Given the description of an element on the screen output the (x, y) to click on. 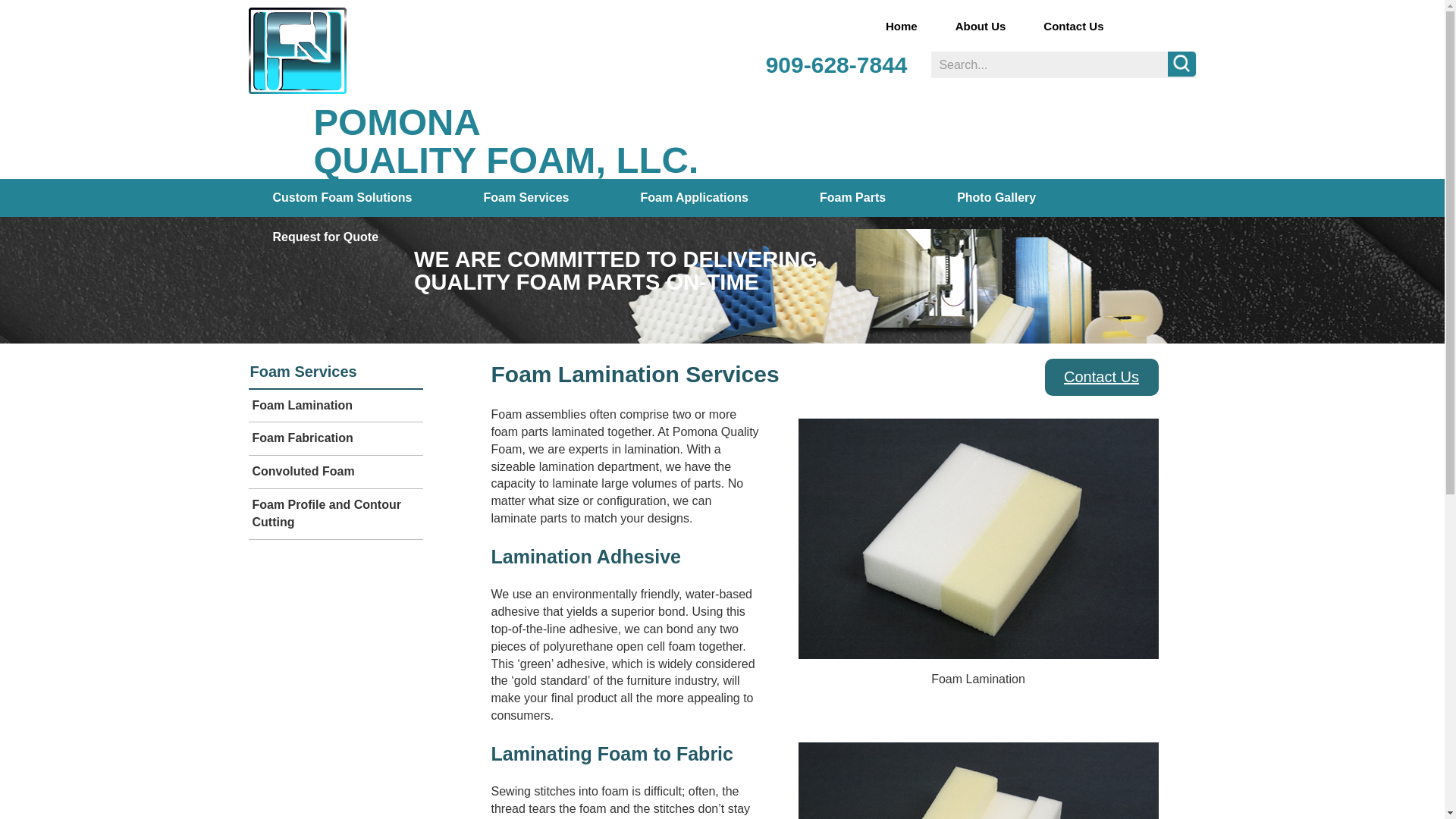
Contact Us (1101, 376)
Foam Lamination (335, 405)
Contact Us (1073, 25)
Foam Services (526, 197)
About Us (980, 25)
  Search... (1063, 64)
Custom Foam Solutions (342, 197)
  Search... (1063, 64)
Foam Services (335, 372)
Foam Fabrication (977, 538)
Home (901, 25)
Search (1181, 63)
Foam Applications (505, 140)
Request for Quote (693, 197)
